Given the description of an element on the screen output the (x, y) to click on. 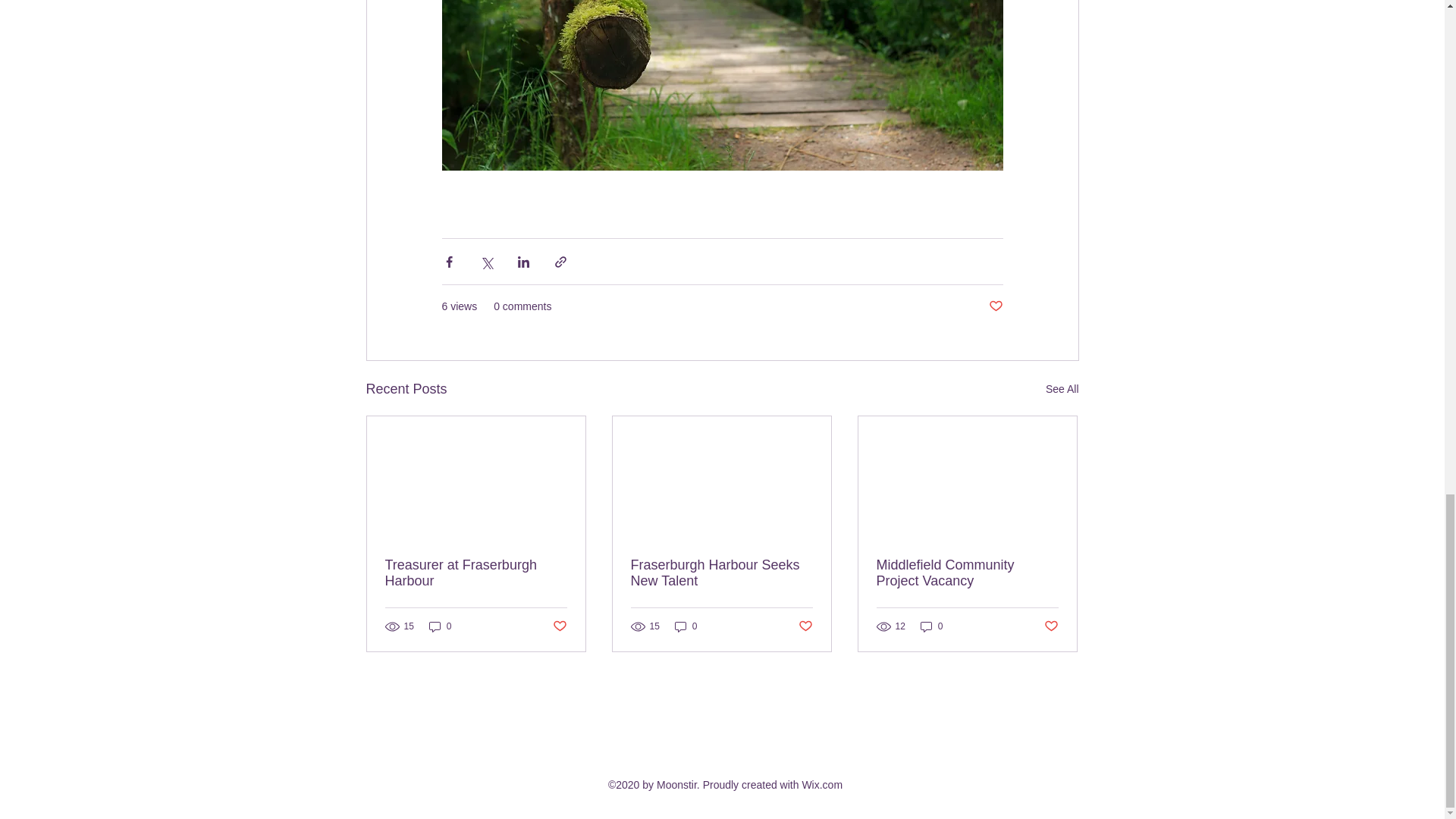
0 (440, 626)
Post not marked as liked (558, 626)
Treasurer at Fraserburgh Harbour (476, 572)
Post not marked as liked (804, 626)
0 (931, 626)
See All (1061, 389)
Fraserburgh Harbour Seeks New Talent (721, 572)
Middlefield Community Project Vacancy (967, 572)
Post not marked as liked (1050, 626)
Post not marked as liked (995, 306)
0 (685, 626)
